Given the description of an element on the screen output the (x, y) to click on. 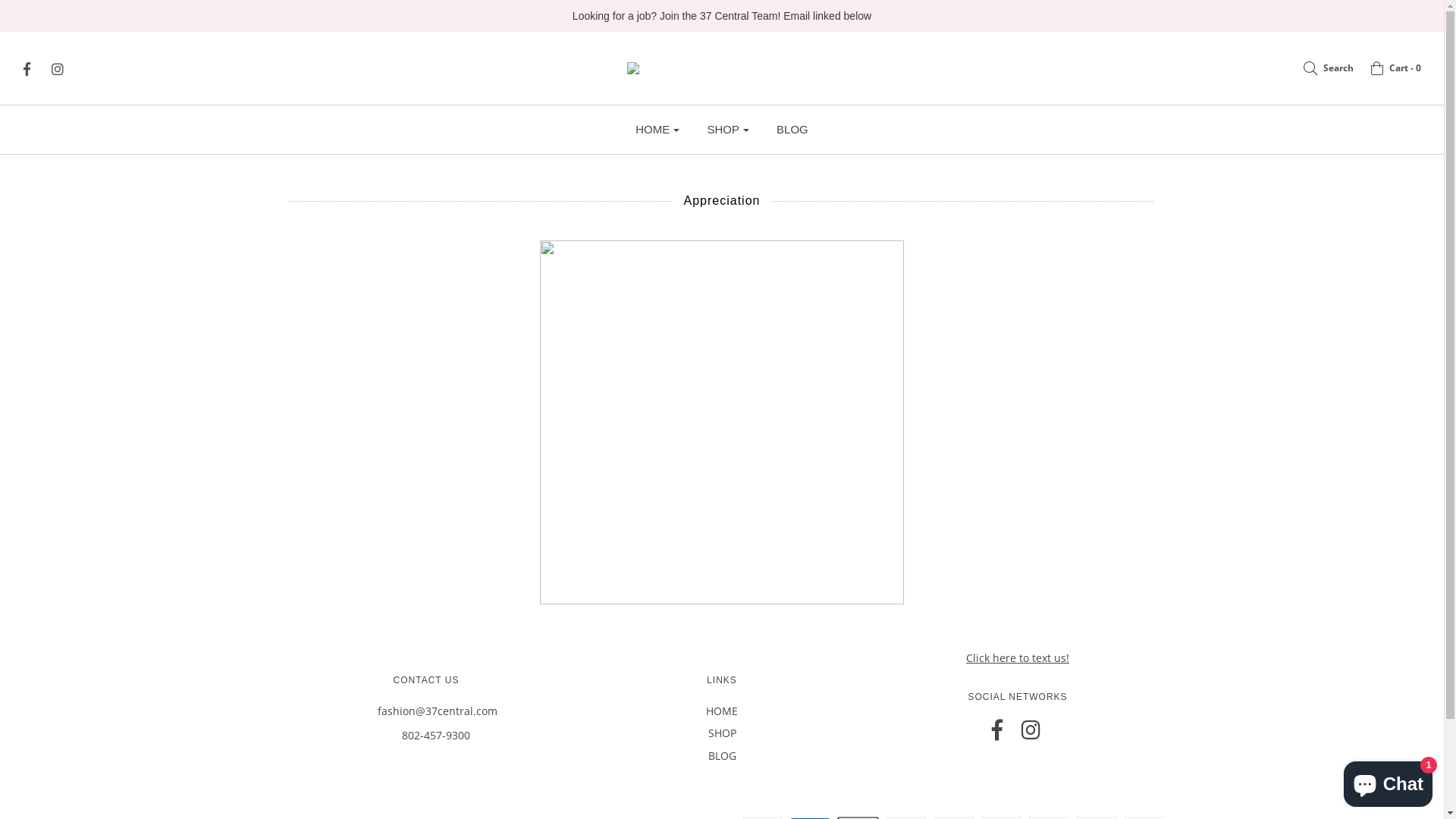
Click here to text us! Element type: text (1017, 657)
Search Element type: text (1320, 68)
BLOG Element type: text (792, 129)
Cart - 0 Element type: text (1388, 68)
Shopify online store chat Element type: hover (1388, 780)
HOME Element type: text (657, 129)
BLOG Element type: text (722, 758)
SHOP Element type: text (722, 735)
SHOP Element type: text (727, 129)
HOME Element type: text (721, 713)
